Given the description of an element on the screen output the (x, y) to click on. 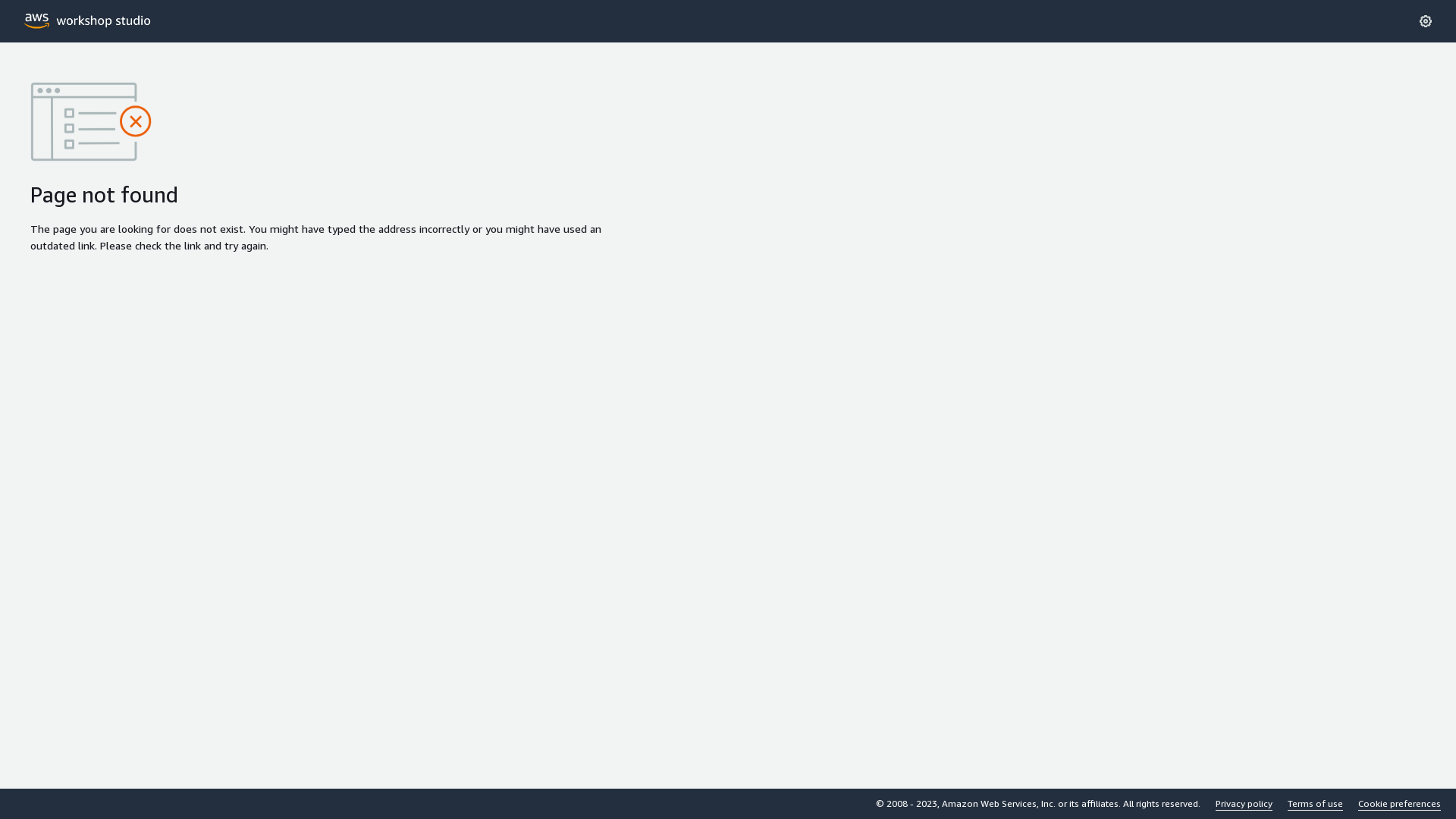
Privacy policy Element type: text (1243, 803)
Terms of use Element type: text (1315, 803)
Cookie preferences Element type: text (1399, 803)
